Given the description of an element on the screen output the (x, y) to click on. 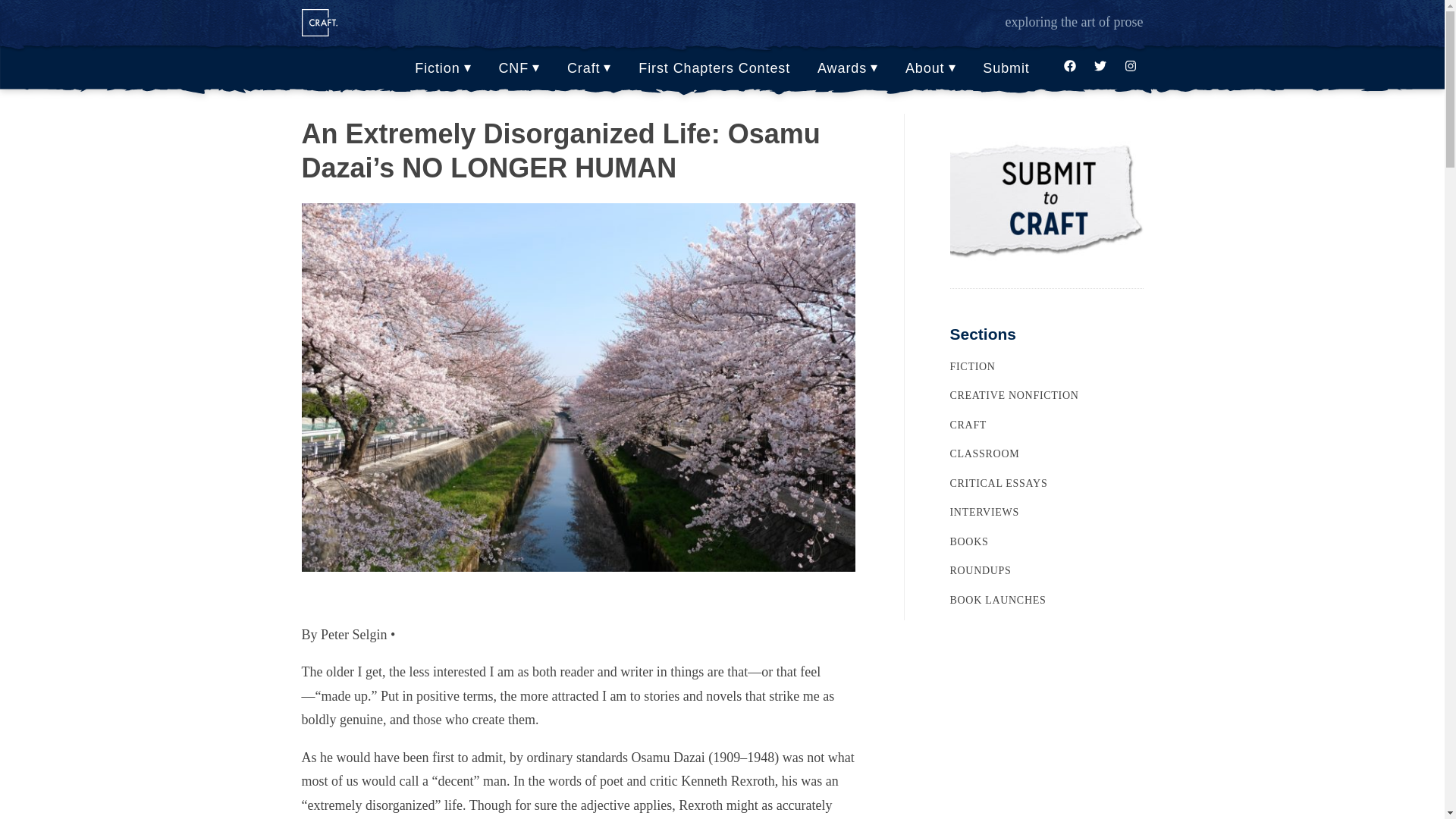
Awards (847, 68)
Craft (589, 68)
Fiction (442, 68)
CNF (518, 68)
First Chapters Contest (714, 68)
